Given the description of an element on the screen output the (x, y) to click on. 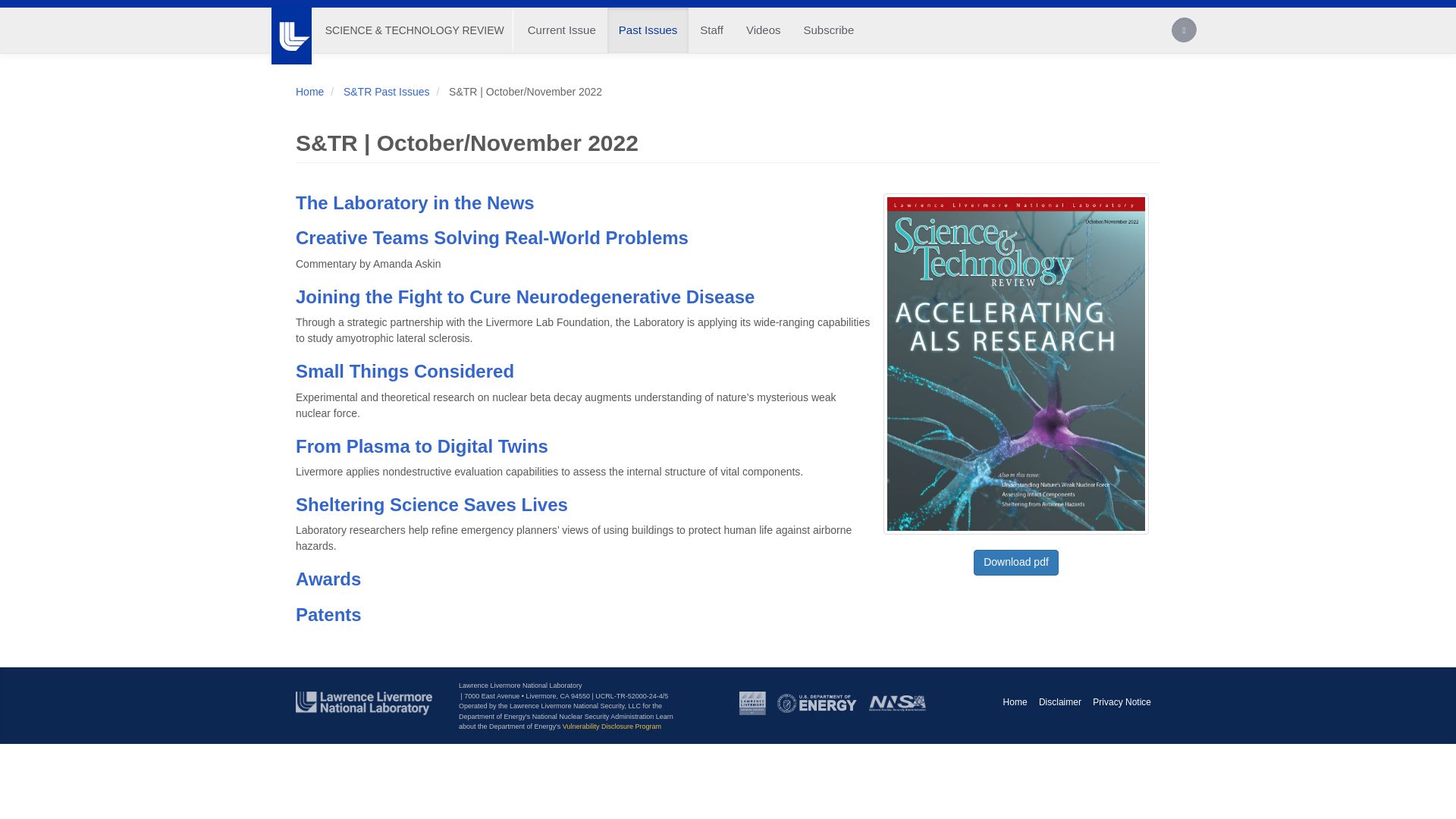
Home (413, 30)
Search (1185, 31)
